Given the description of an element on the screen output the (x, y) to click on. 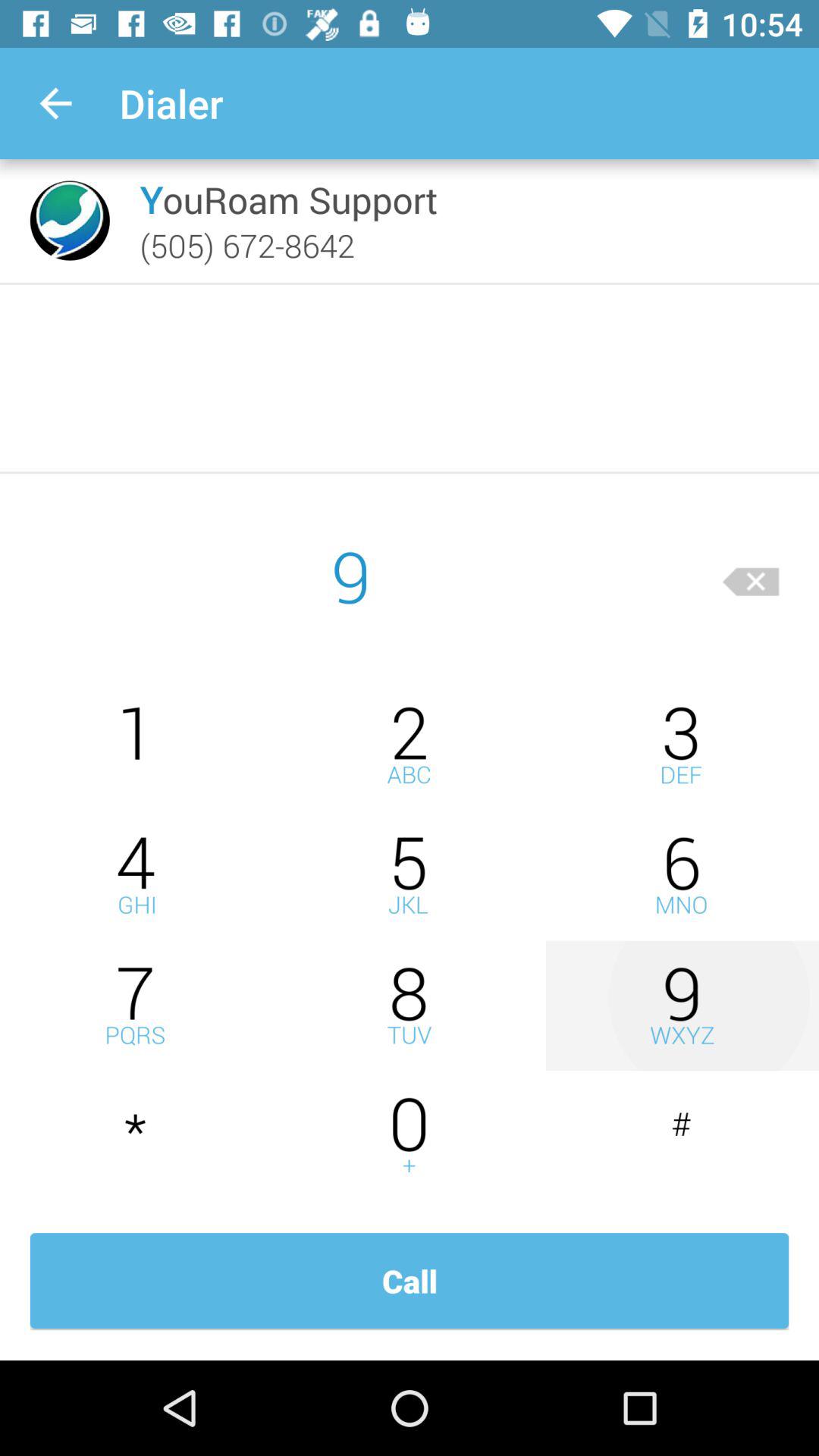
backspace (750, 575)
